Given the description of an element on the screen output the (x, y) to click on. 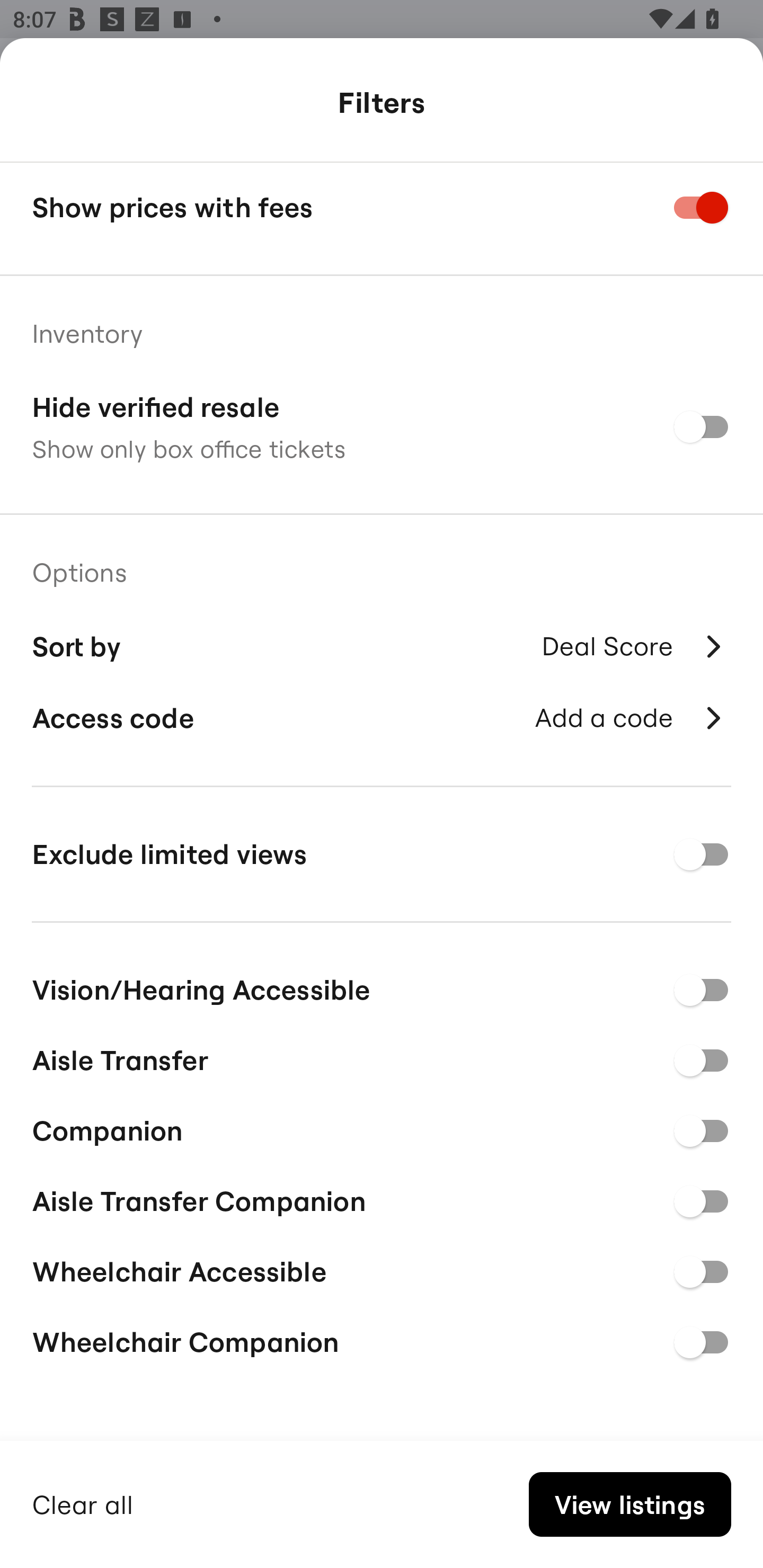
Show prices with fees (381, 207)
Hide verified resale Show only box office tickets (381, 426)
Sort by Deal Score (381, 644)
Access code Add a code (381, 717)
Exclude limited views (381, 854)
Vision/Hearing Accessible (381, 986)
Aisle Transfer (381, 1057)
Companion (381, 1127)
Aisle Transfer Companion (381, 1198)
Wheelchair Accessible (381, 1269)
Wheelchair Companion (381, 1341)
Clear all (83, 1502)
View listings (629, 1504)
